Given the description of an element on the screen output the (x, y) to click on. 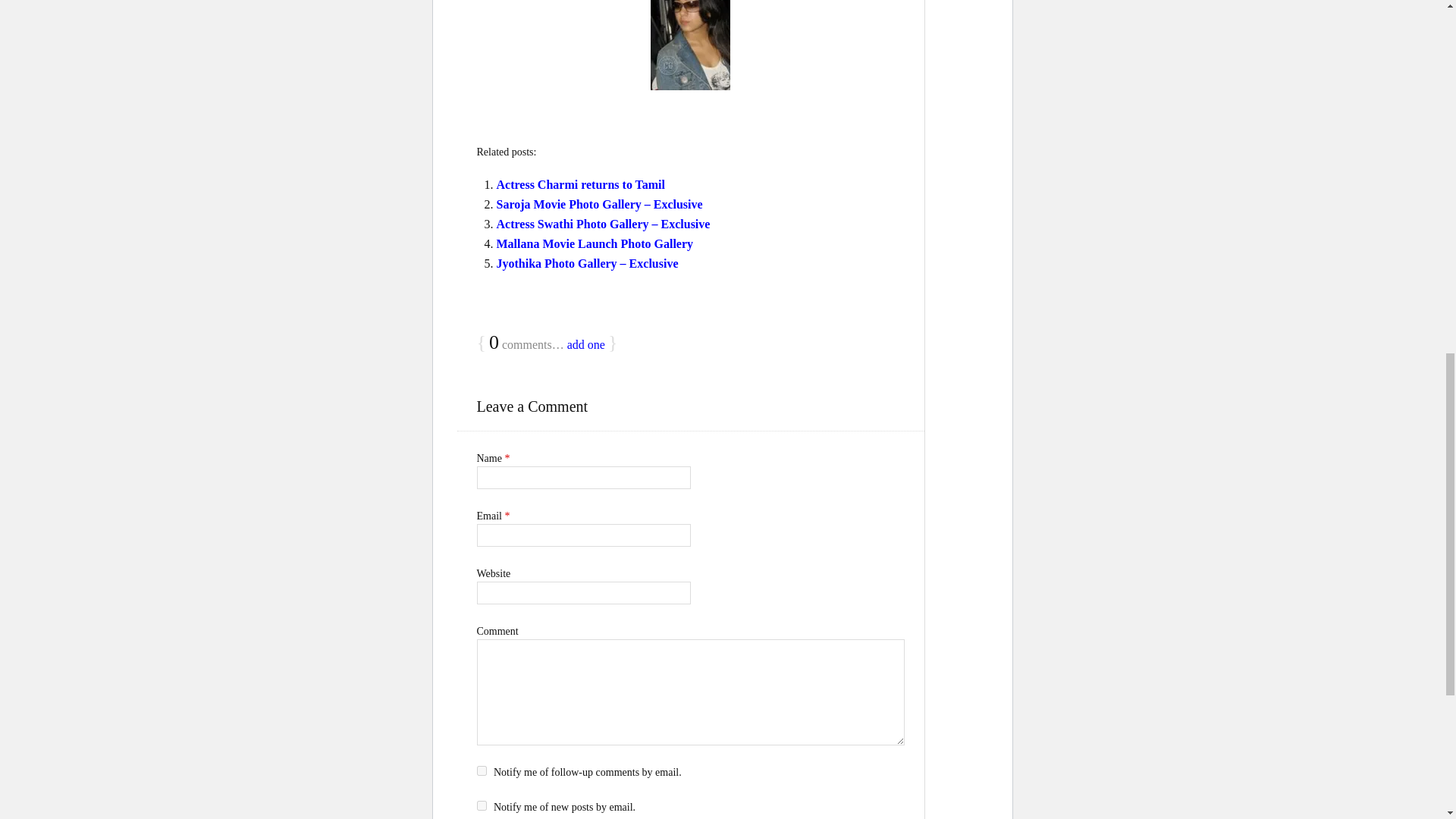
subscribe (481, 805)
Mallana Movie Launch Photo Gallery (594, 243)
subscribe (481, 770)
Actress Charmi returns to Tamil (580, 184)
Actress Charmi returns to Tamil (580, 184)
add one (586, 344)
Mallana Movie Launch Photo Gallery (594, 243)
